Given the description of an element on the screen output the (x, y) to click on. 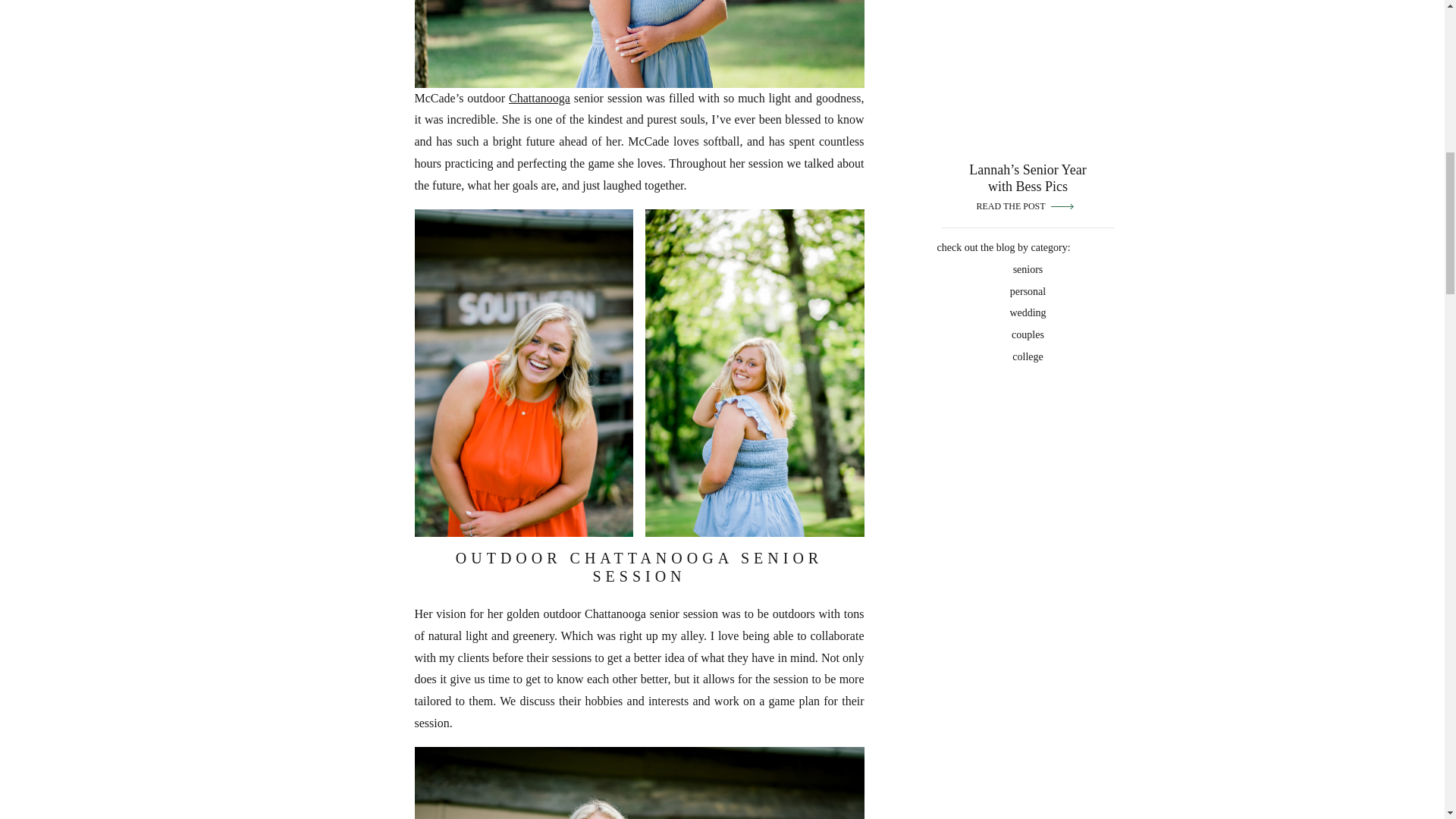
Chattanooga (539, 97)
wedding (1026, 311)
couples (1026, 333)
college (1026, 355)
READ THE POST (1011, 206)
personal (1026, 290)
seniors (1026, 268)
